Given the description of an element on the screen output the (x, y) to click on. 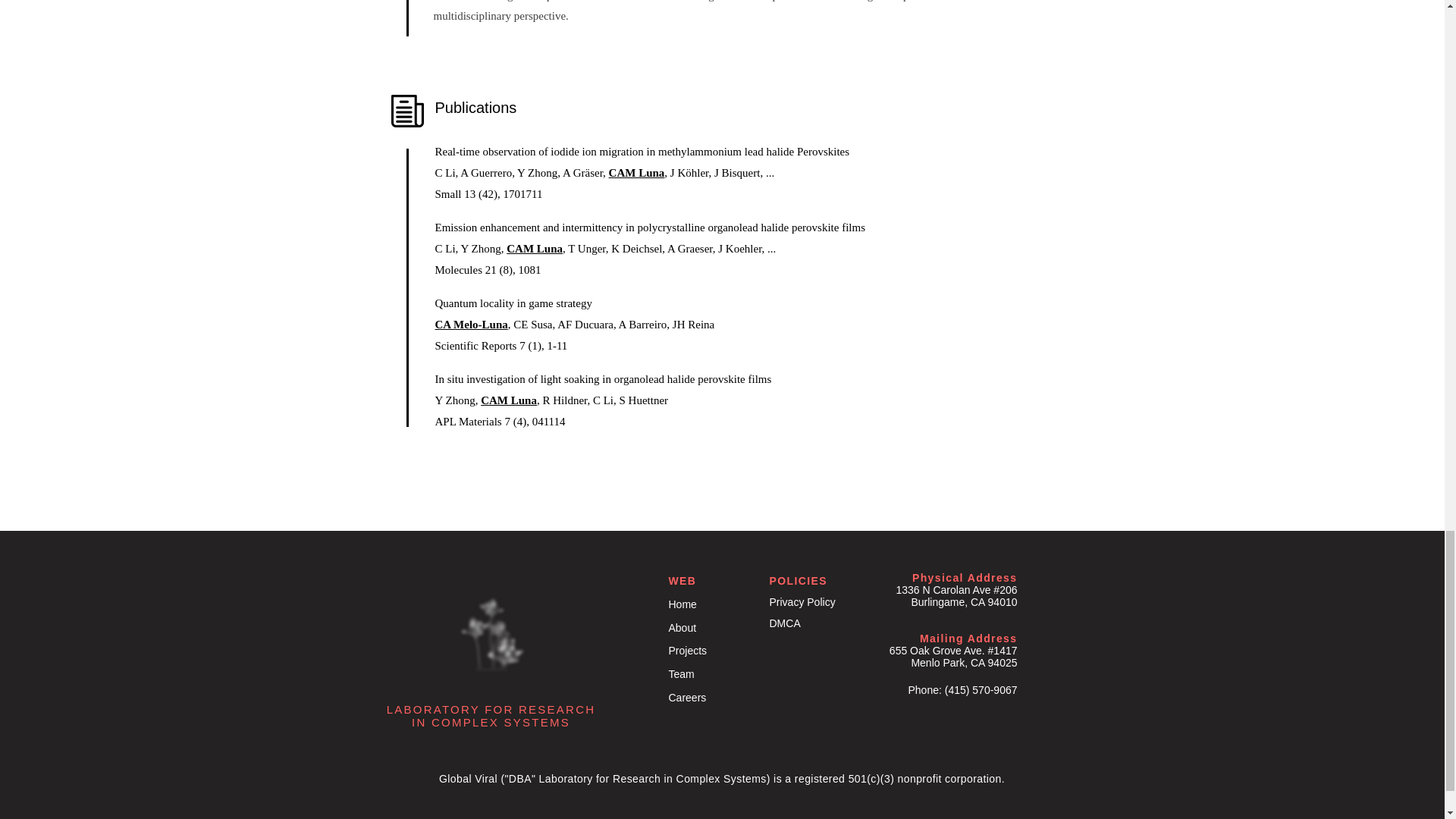
About (682, 627)
Home (682, 604)
Careers  (689, 697)
Projects (687, 650)
Team (681, 674)
DMCA (783, 623)
001-newspaper.png (407, 111)
Privacy Policy (801, 602)
